Given the description of an element on the screen output the (x, y) to click on. 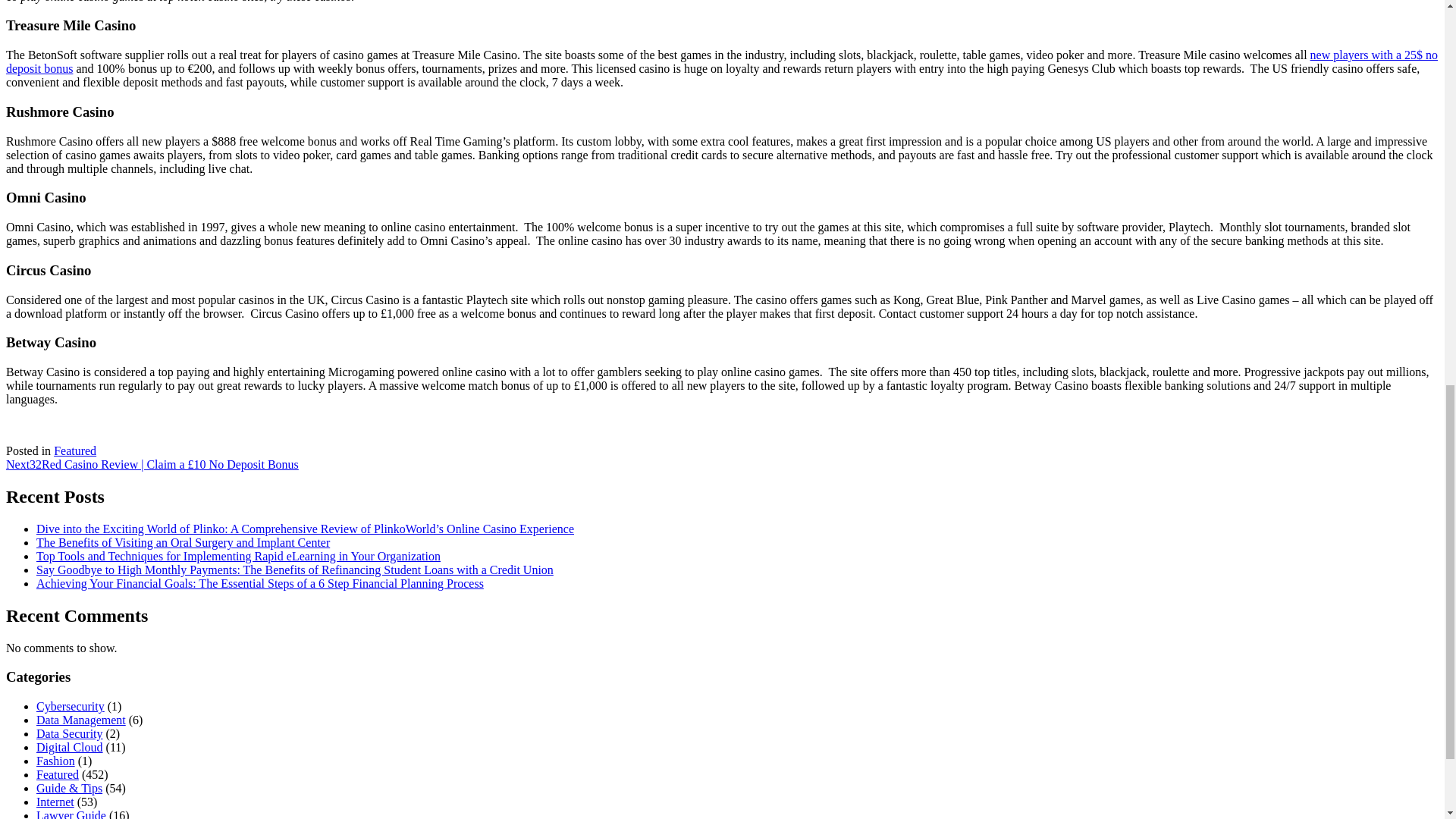
Featured (57, 774)
Data Security (69, 733)
Lawyer Guide (71, 814)
Fashion (55, 760)
Digital Cloud (69, 747)
Featured (74, 450)
Data Management (80, 719)
The Benefits of Visiting an Oral Surgery and Implant Center (183, 542)
Internet (55, 801)
Cybersecurity (70, 706)
